Given the description of an element on the screen output the (x, y) to click on. 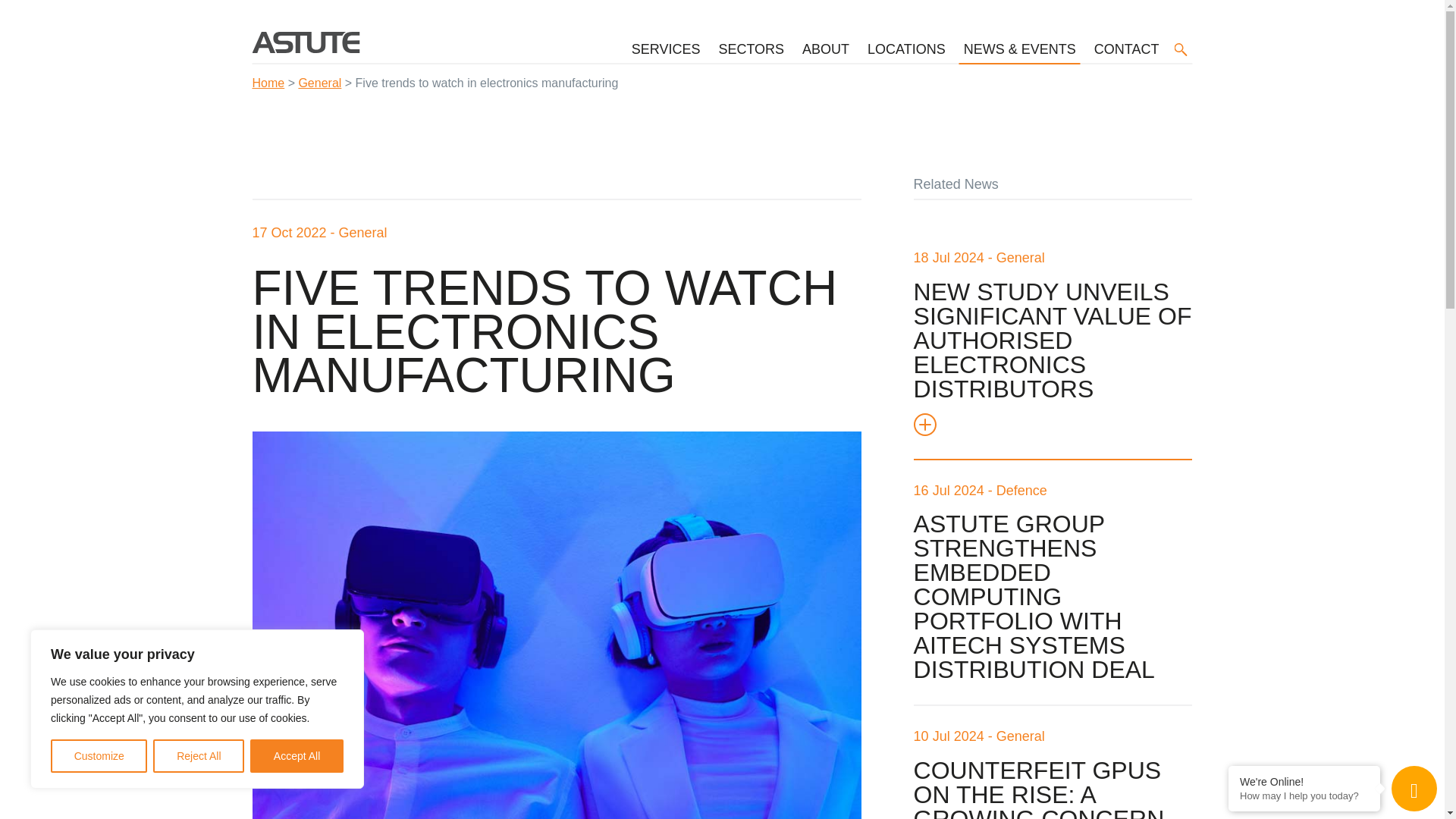
SERVICES (665, 49)
We're Online! (1304, 781)
SECTORS (751, 49)
Customize (98, 756)
Accept All (296, 756)
Reject All (198, 756)
How may I help you today? (1304, 795)
